Given the description of an element on the screen output the (x, y) to click on. 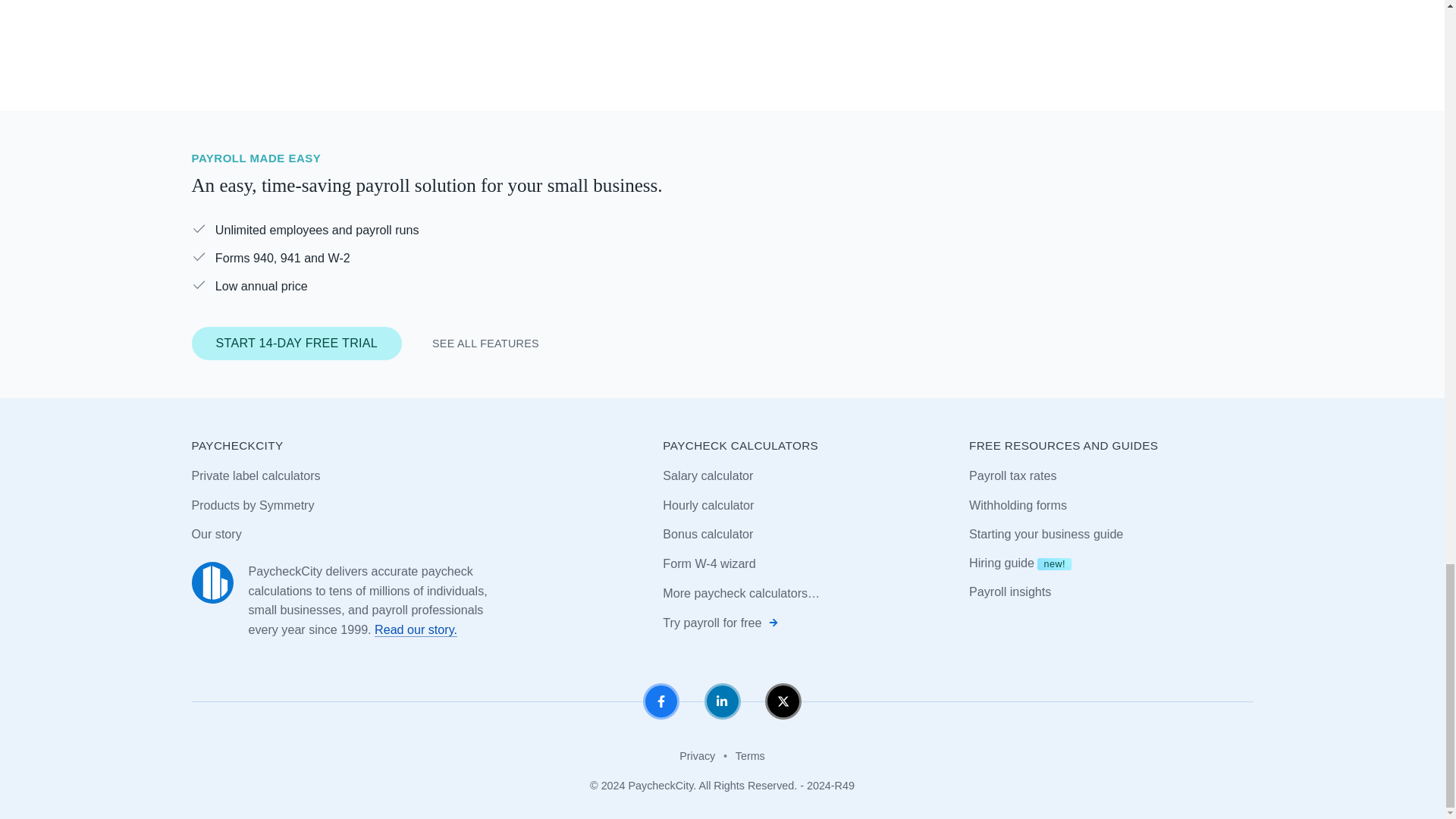
Salary calculator (707, 475)
Hiring guide new! (1020, 563)
Try payroll for free (719, 622)
Payroll insights (1010, 591)
Products by Symmetry (252, 505)
SEE ALL FEATURES (485, 343)
Read our story. (415, 629)
Form W-4 wizard (708, 564)
Private label calculators (255, 475)
PaycheckCity (211, 582)
